Given the description of an element on the screen output the (x, y) to click on. 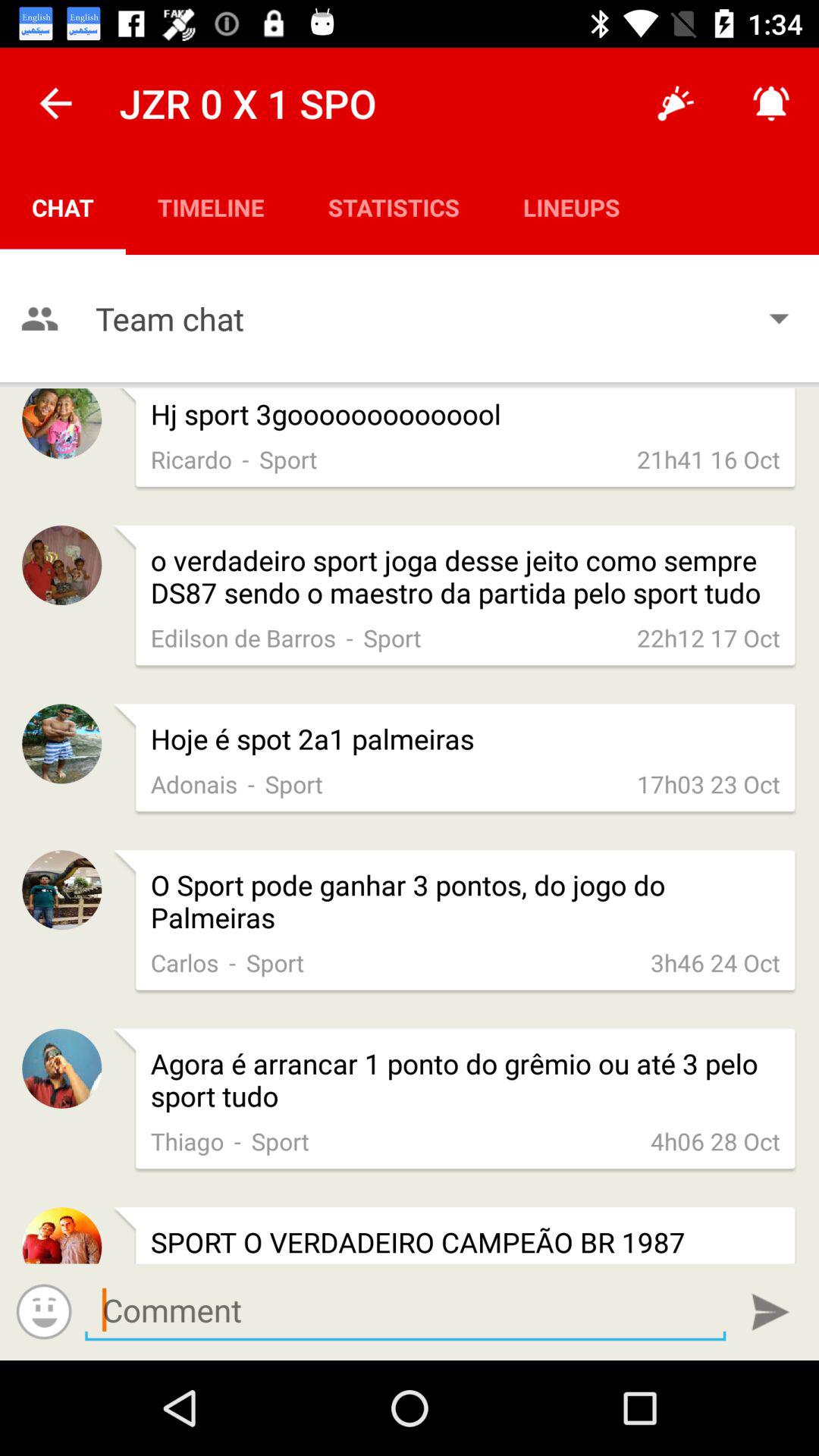
open the app below the o sport pode app (232, 962)
